Given the description of an element on the screen output the (x, y) to click on. 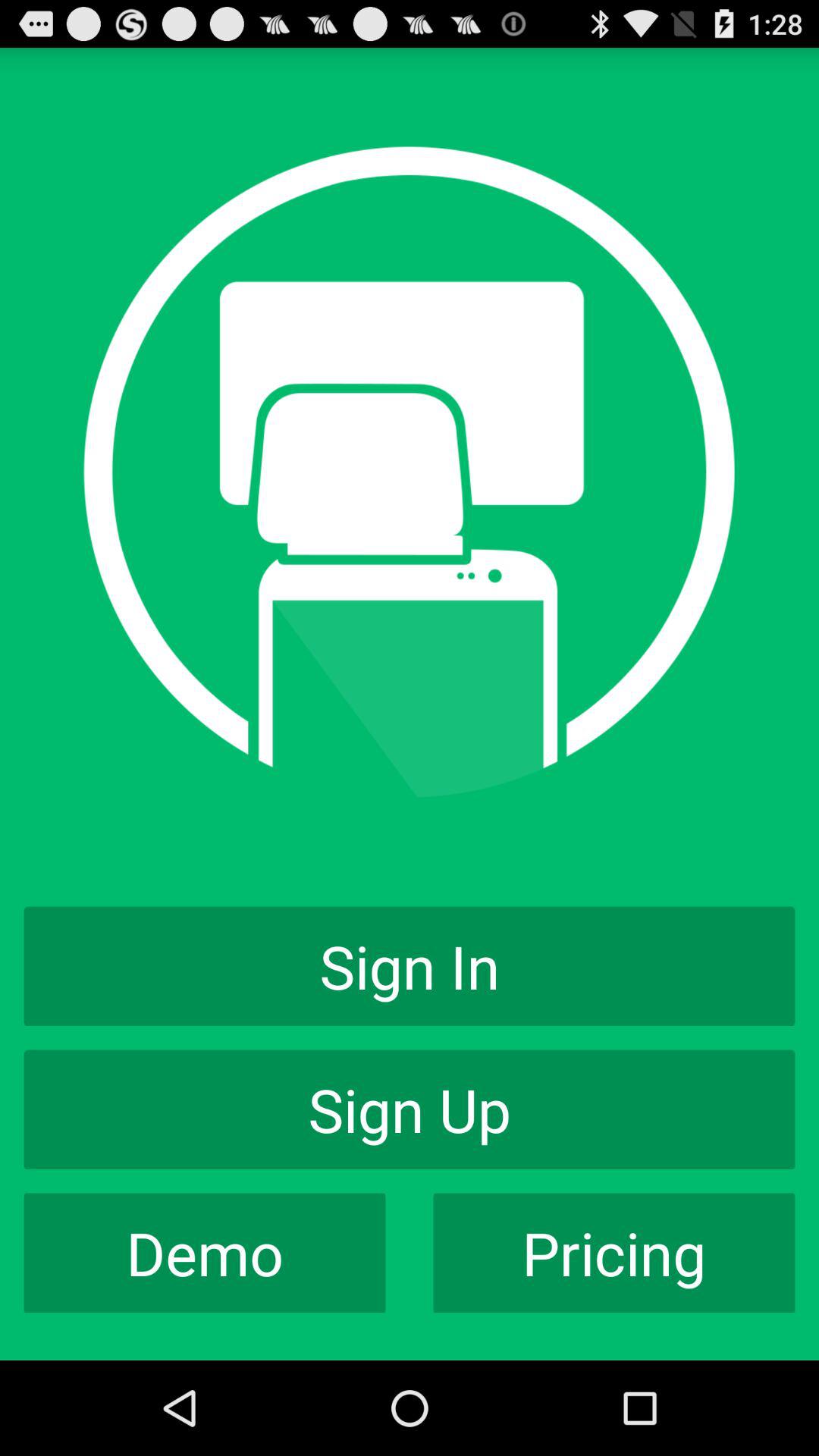
select the icon at the bottom (409, 1109)
